Given the description of an element on the screen output the (x, y) to click on. 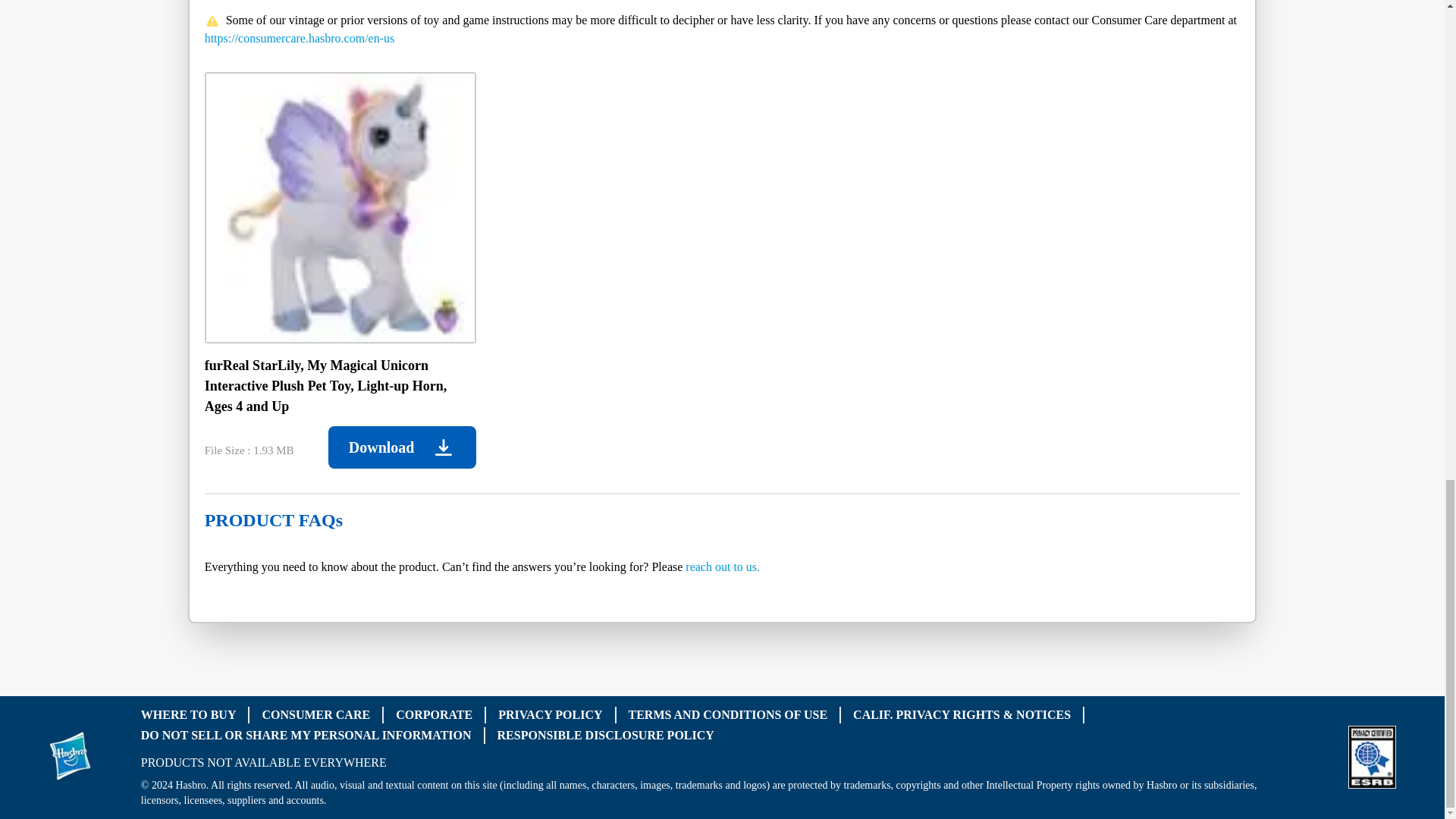
Download (402, 446)
DO NOT SELL OR SHARE MY PERSONAL INFORMATION (306, 734)
PRIVACY POLICY (549, 714)
reach out to us. (722, 566)
TERMS AND CONDITIONS OF USE (728, 714)
RESPONSIBLE DISCLOSURE POLICY (605, 734)
CONSUMER CARE (315, 714)
CORPORATE (433, 714)
WHERE TO BUY (188, 714)
